Given the description of an element on the screen output the (x, y) to click on. 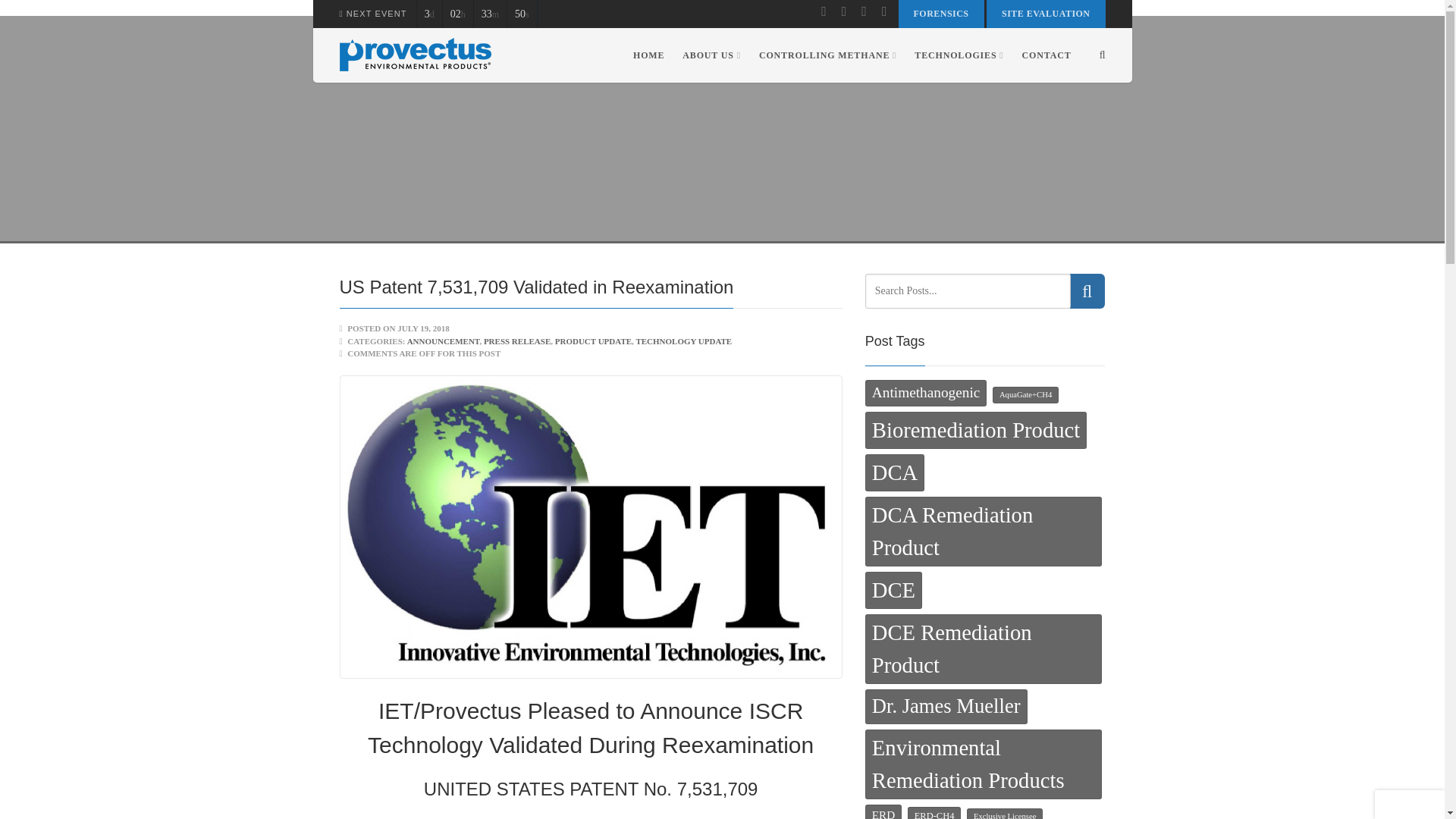
TECHNOLOGIES (958, 54)
ABOUT US (710, 54)
HOME (648, 54)
FORENSICS (941, 13)
SITE EVALUATION (1046, 13)
CONTROLLING METHANE (827, 54)
Provectus Environmental Products, Inc. (415, 55)
CONTACT (1042, 54)
